Given the description of an element on the screen output the (x, y) to click on. 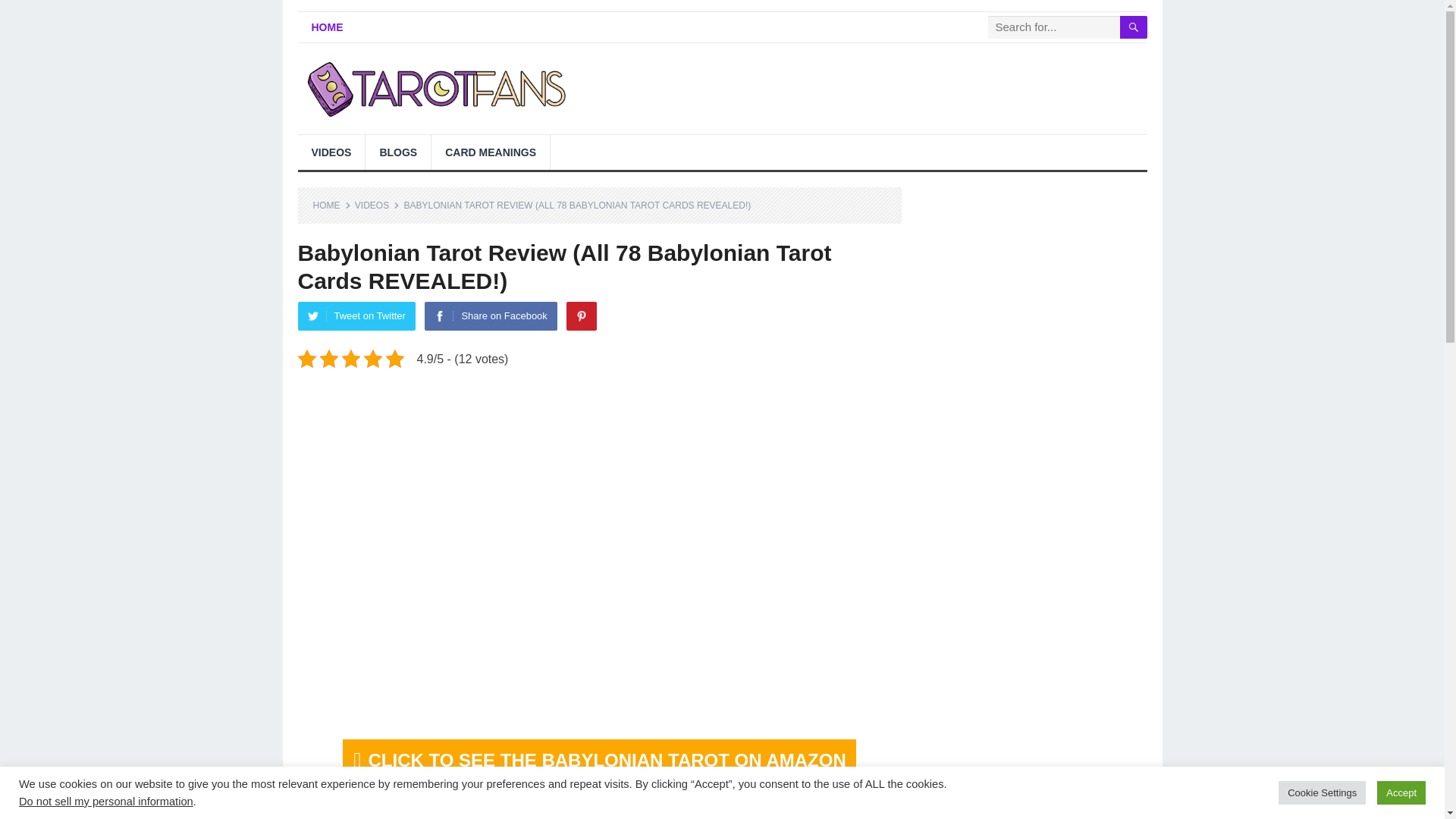
BLOGS (397, 152)
View all posts in Videos (376, 204)
CLICK TO SEE THE BABYLONIAN TAROT ON AMAZON (599, 760)
HOME (326, 27)
CARD MEANINGS (490, 152)
Pinterest (581, 316)
VIDEOS (376, 204)
VIDEOS (331, 152)
Tweet on Twitter (355, 316)
Share on Facebook (490, 316)
HOME (331, 204)
